Given the description of an element on the screen output the (x, y) to click on. 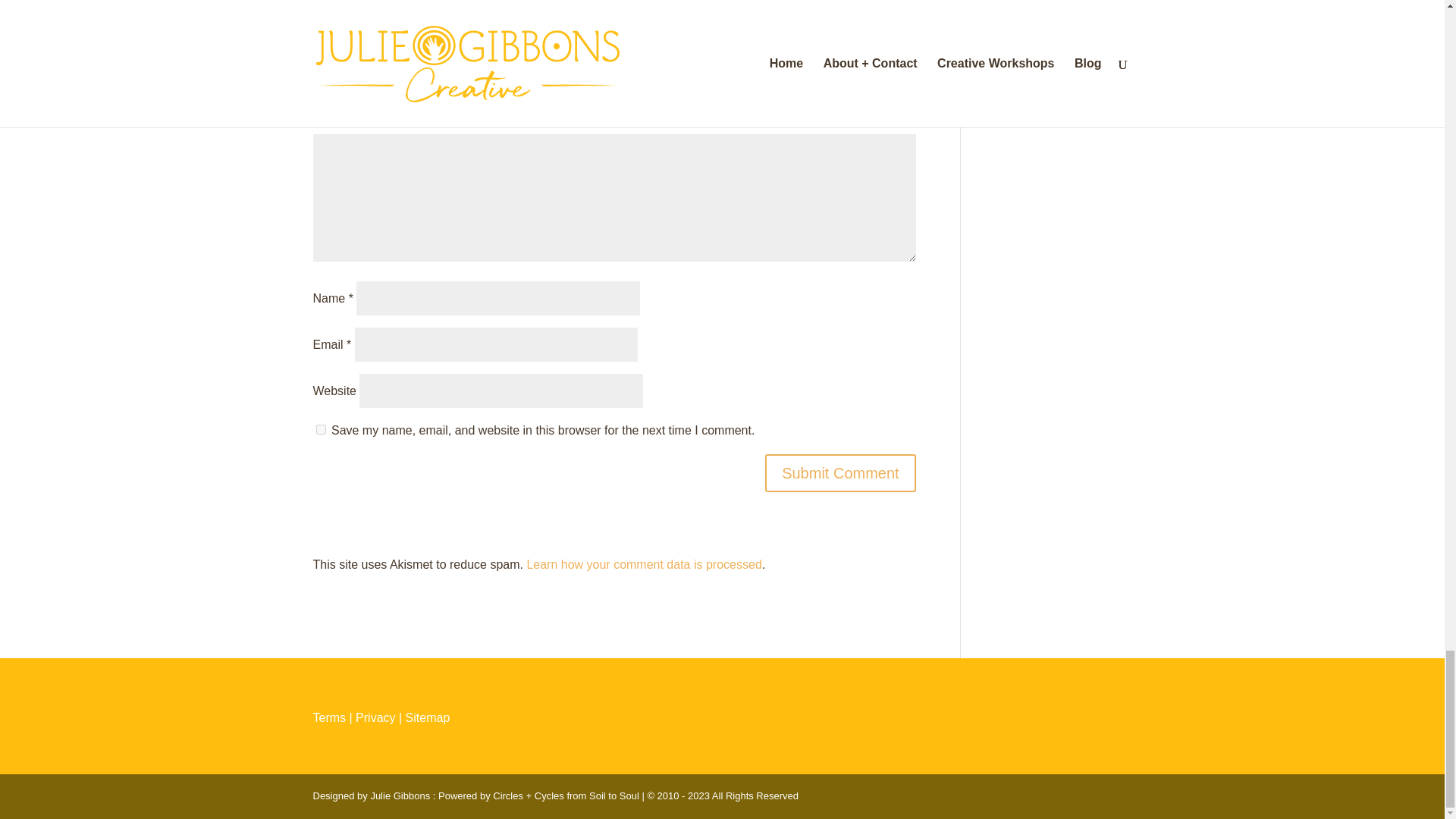
Submit Comment (840, 473)
Terms (329, 717)
yes (319, 429)
Sitemap (427, 717)
Privacy (374, 717)
Learn how your comment data is processed (643, 563)
Submit Comment (840, 473)
